Given the description of an element on the screen output the (x, y) to click on. 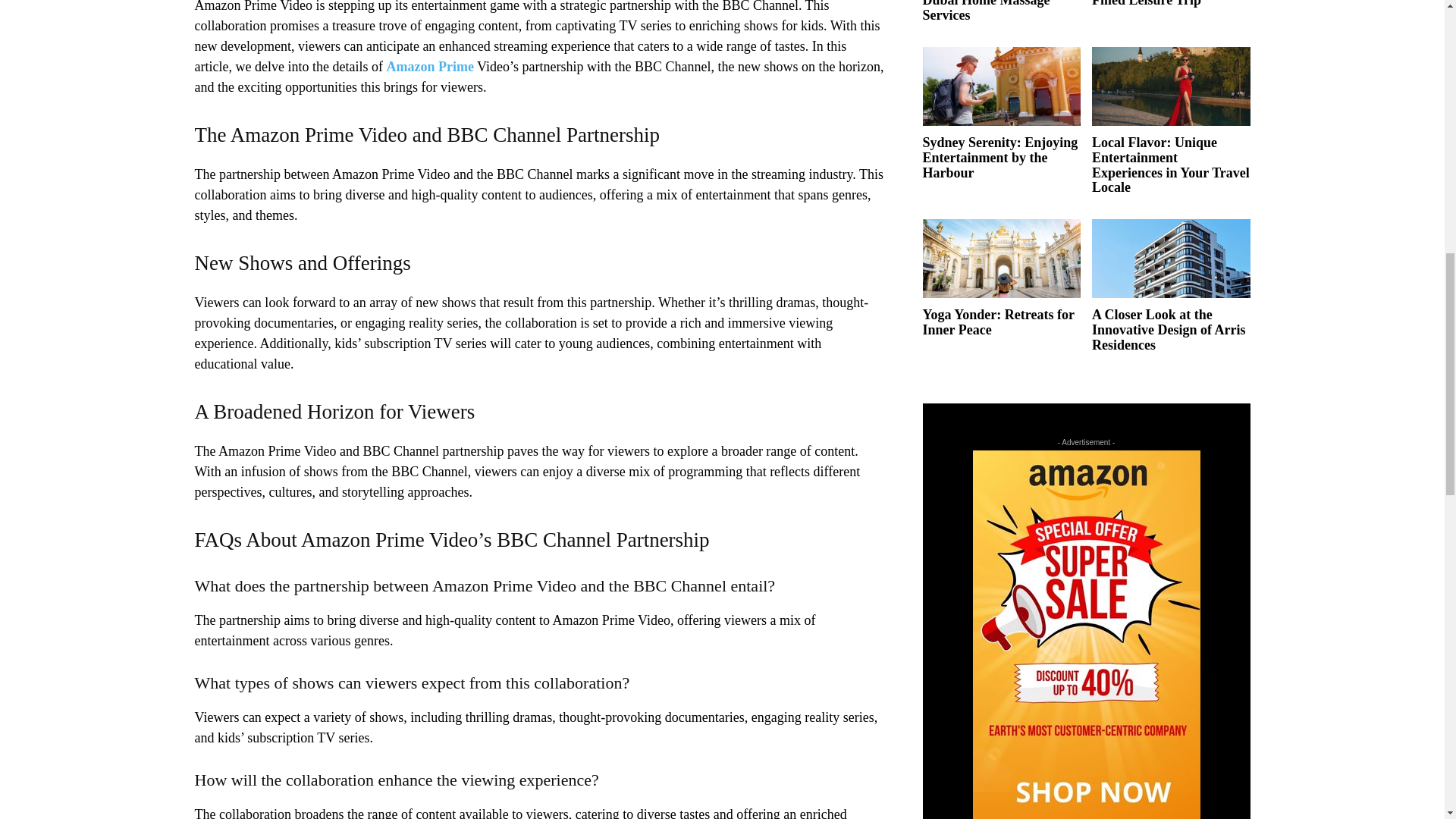
Why You Should Try Dubai Home Massage Services (985, 11)
Sydney Serenity: Enjoying Entertainment by the Harbour (999, 157)
Melbourne Magic: A Fun-Filled Leisure Trip (1168, 3)
Sydney Serenity: Enjoying Entertainment by the Harbour (1000, 86)
